Given the description of an element on the screen output the (x, y) to click on. 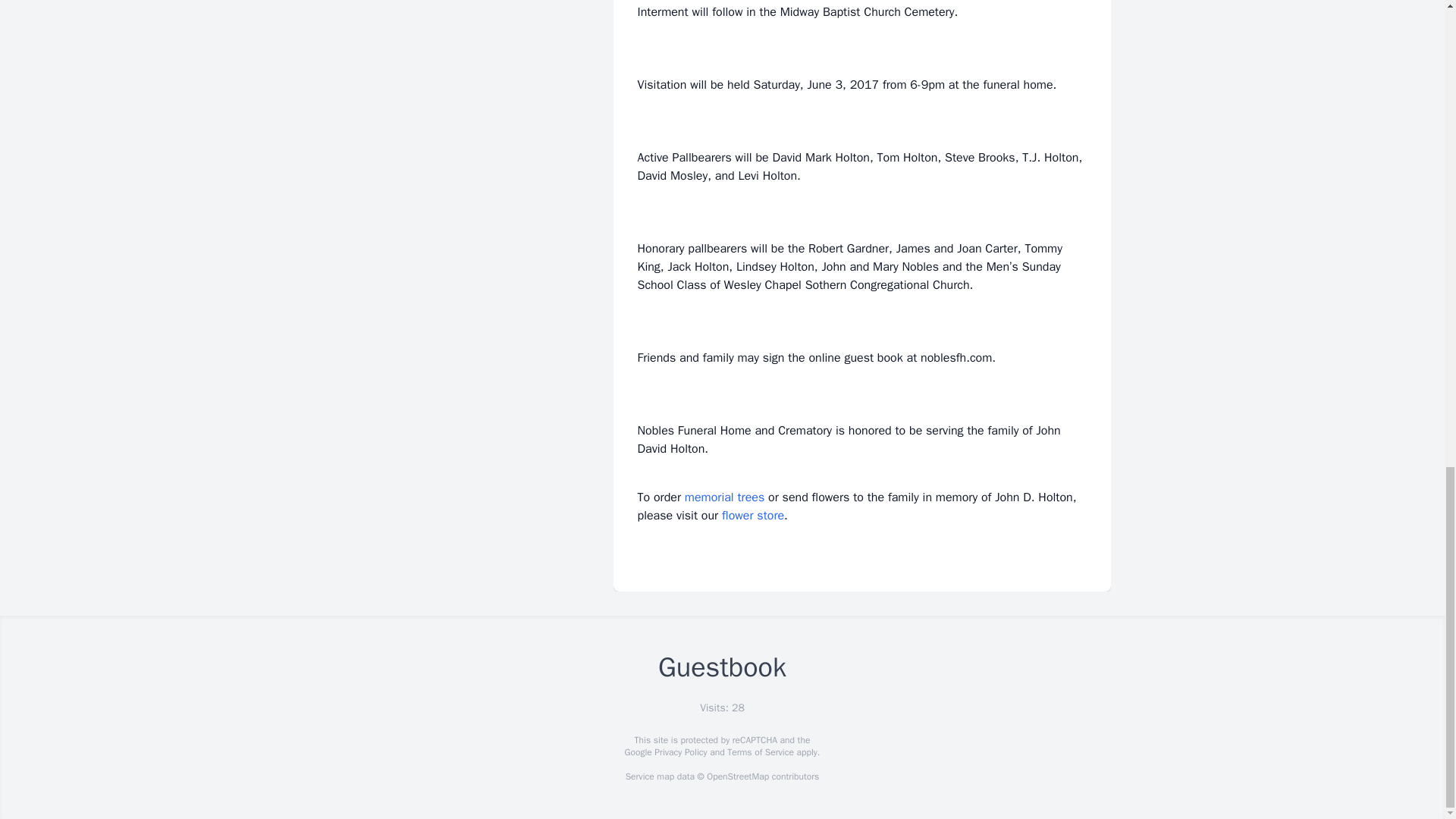
Terms of Service (759, 752)
flower store (753, 515)
OpenStreetMap (737, 776)
Privacy Policy (679, 752)
memorial trees (724, 497)
